Given the description of an element on the screen output the (x, y) to click on. 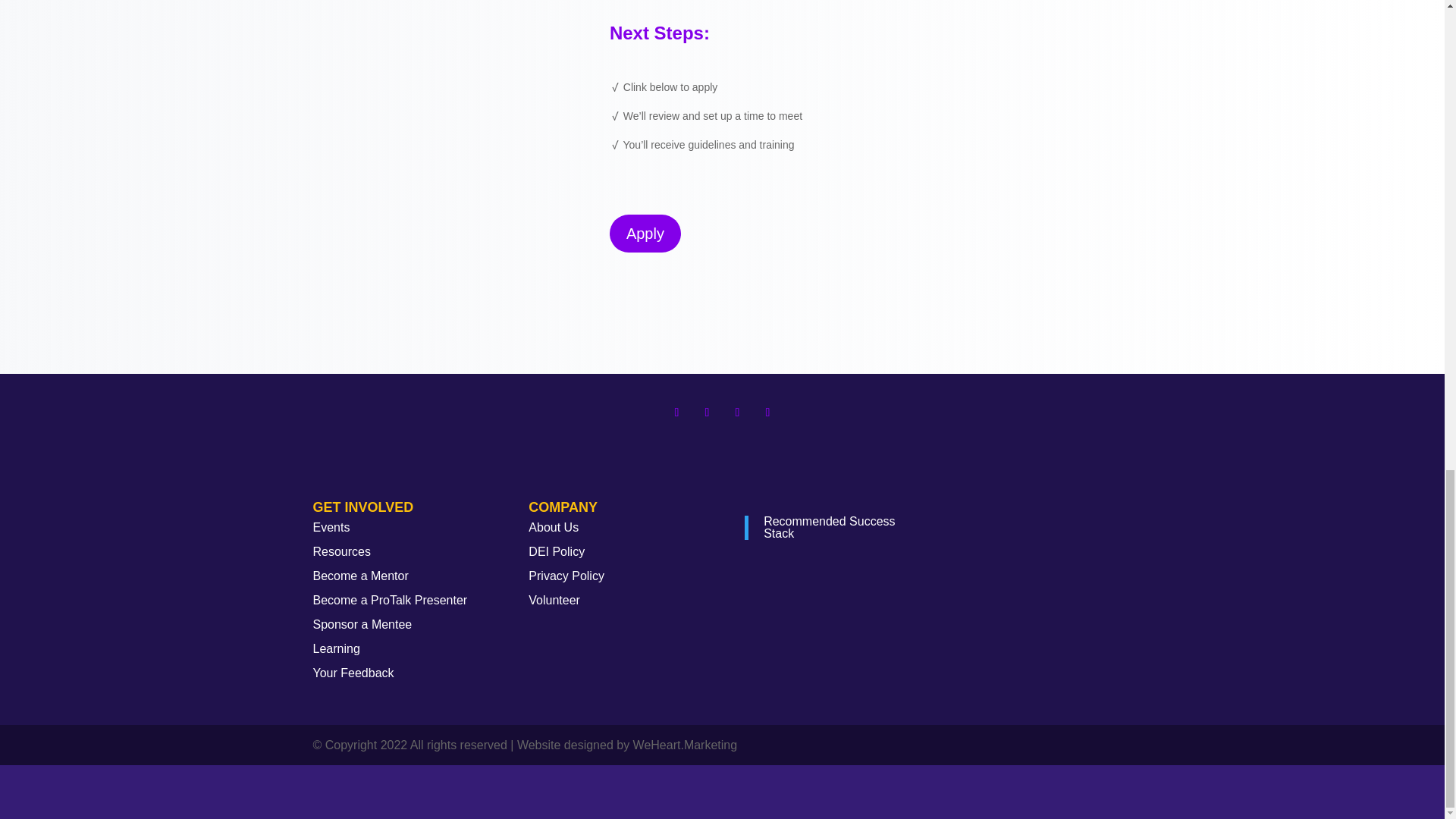
Privacy Policy (566, 575)
DEI Policy (556, 551)
Follow on Instagram (737, 412)
Follow on Twitter (706, 412)
Learning (336, 648)
Volunteer (553, 599)
Your Feedback (353, 672)
Apply (645, 233)
Resources (341, 551)
Follow on Facebook (675, 412)
